Given the description of an element on the screen output the (x, y) to click on. 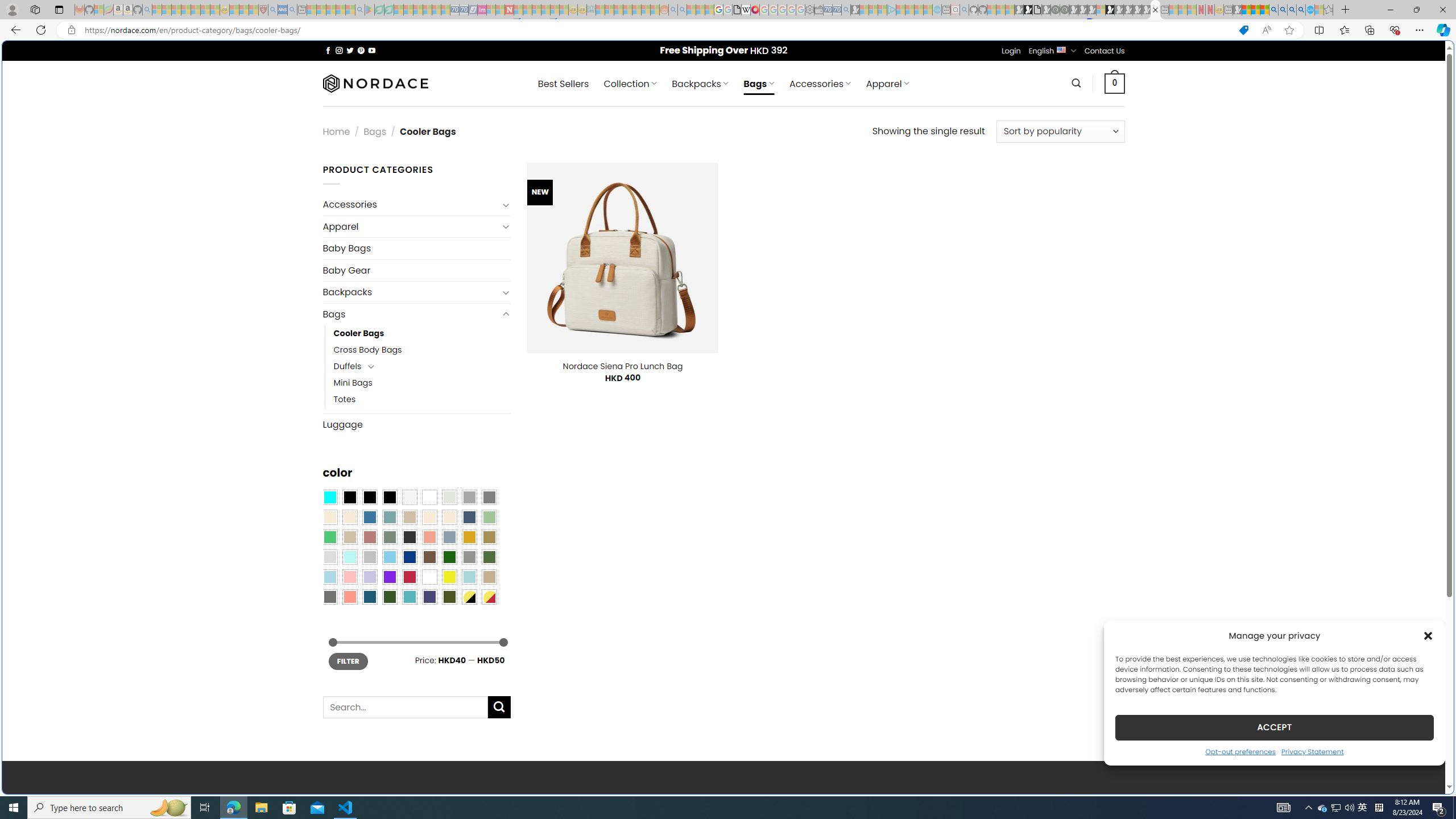
Blue Sage (389, 517)
Mini Bags (352, 382)
Contact Us (1104, 50)
